Given the description of an element on the screen output the (x, y) to click on. 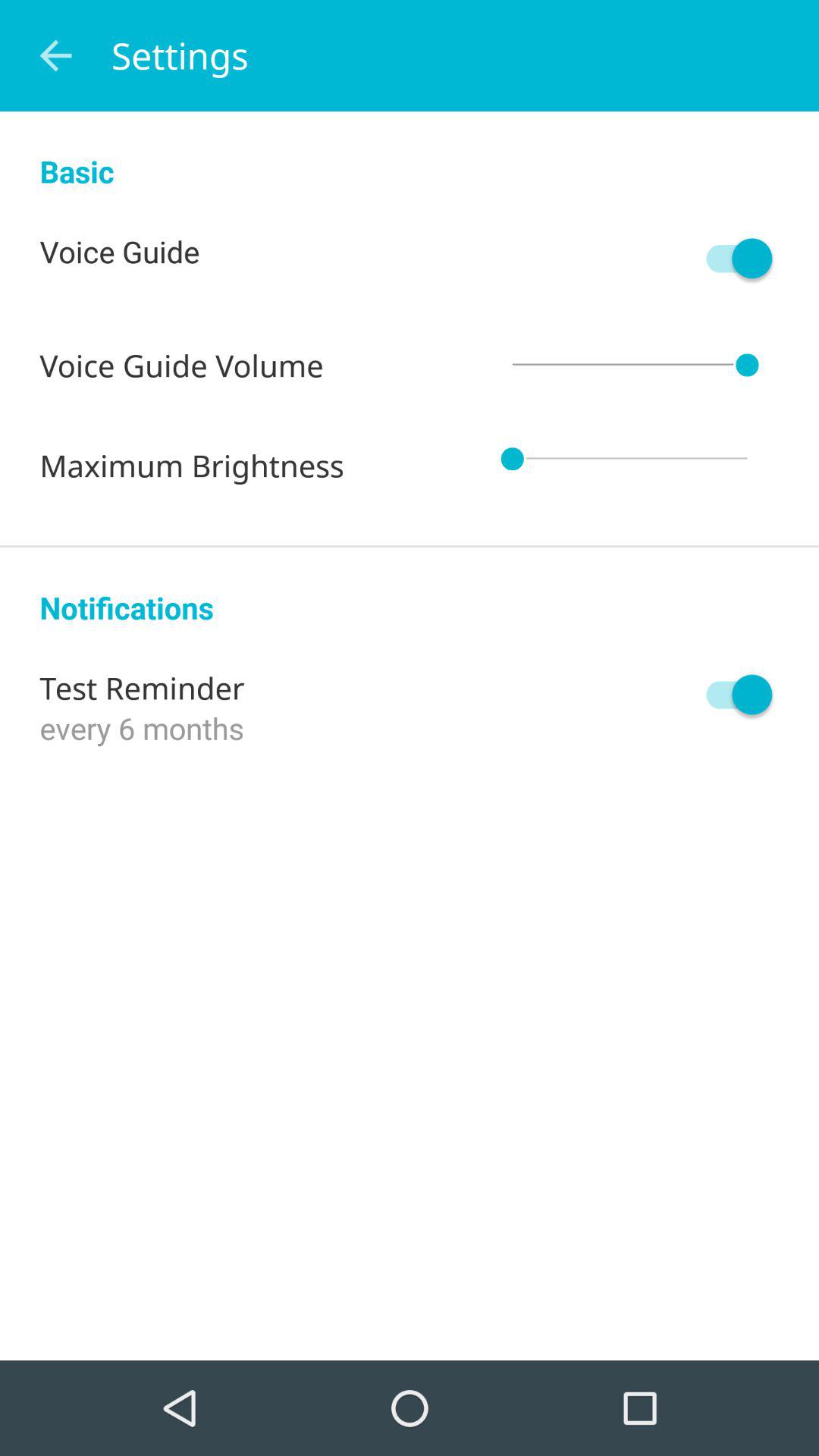
toggle voice guide (731, 258)
